Given the description of an element on the screen output the (x, y) to click on. 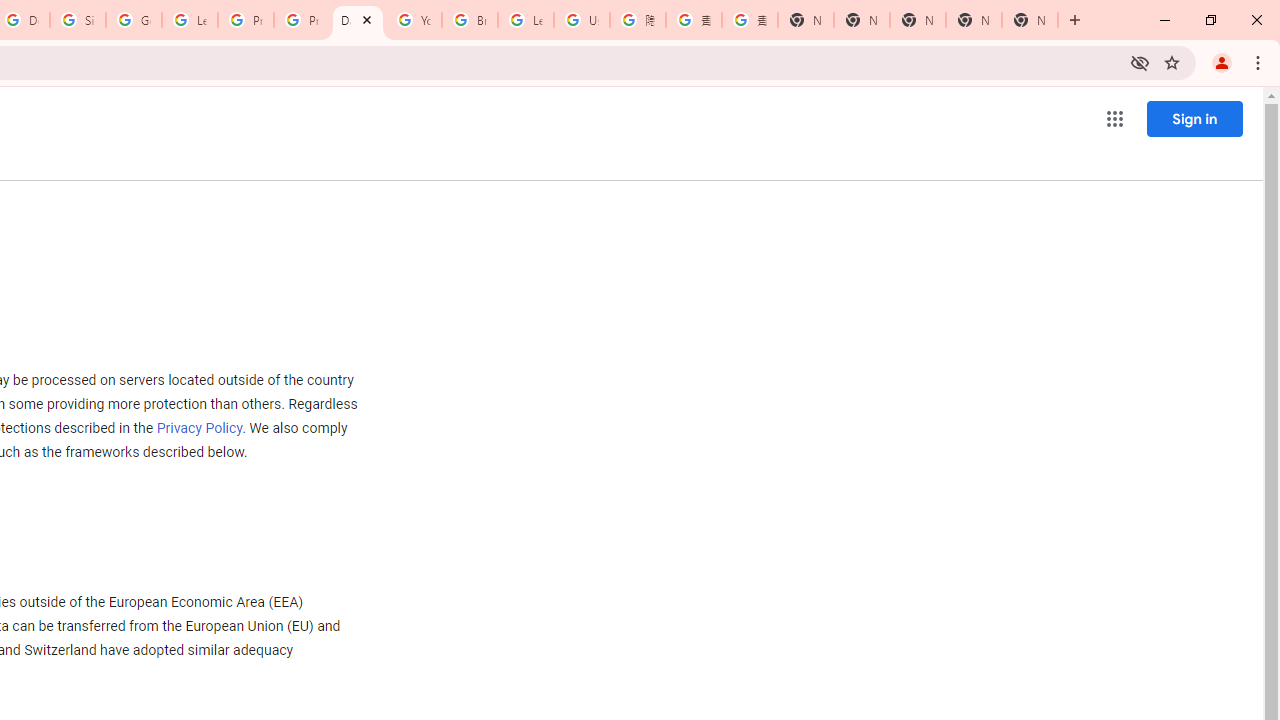
New Tab (806, 20)
Privacy Help Center - Policies Help (245, 20)
YouTube (413, 20)
